Given the description of an element on the screen output the (x, y) to click on. 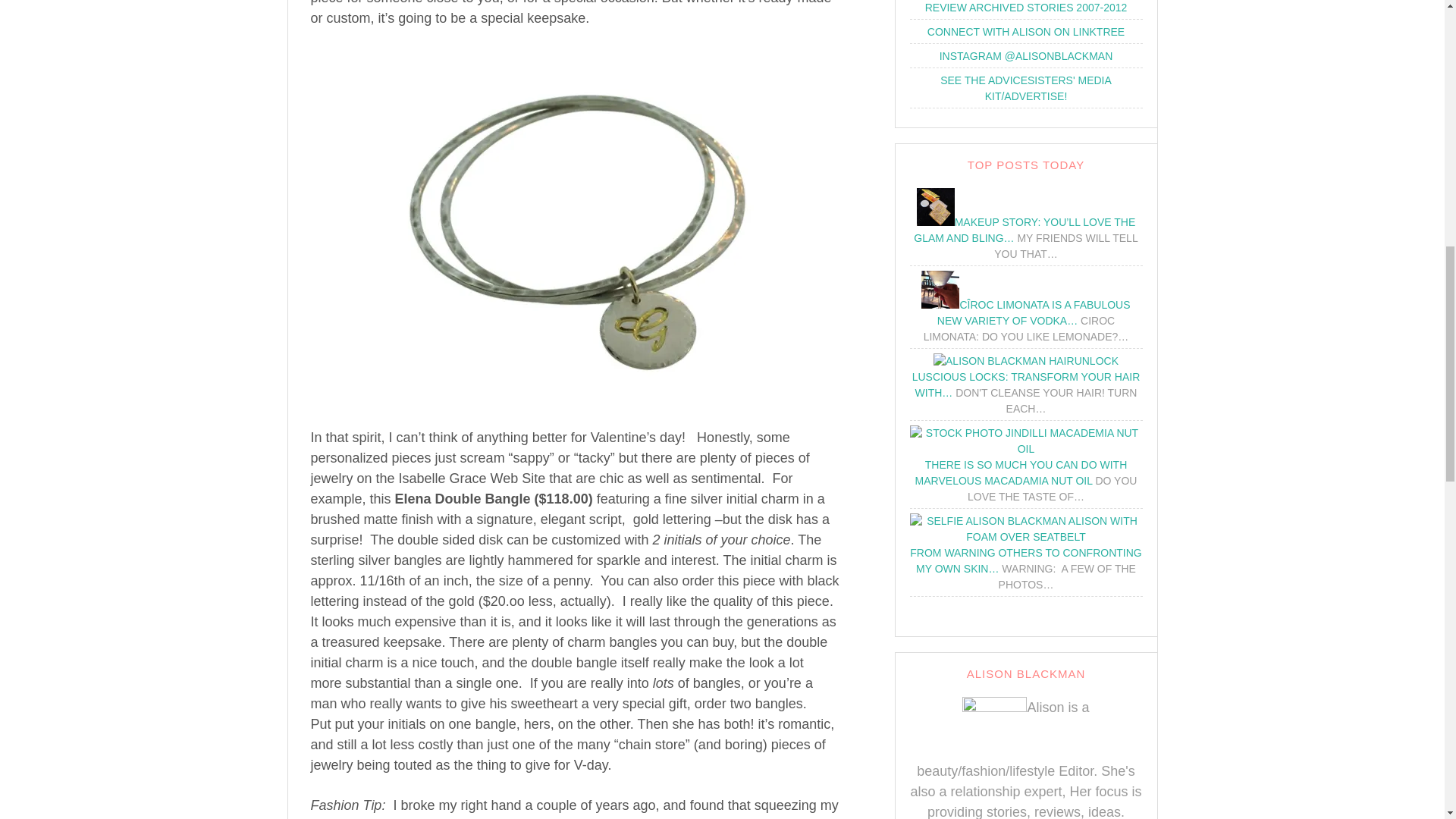
There is So Much You Can Do with Marvelous Macadamia Nut Oil (1026, 441)
advicesisters beauty articles 2009-present (1026, 6)
